Given the description of an element on the screen output the (x, y) to click on. 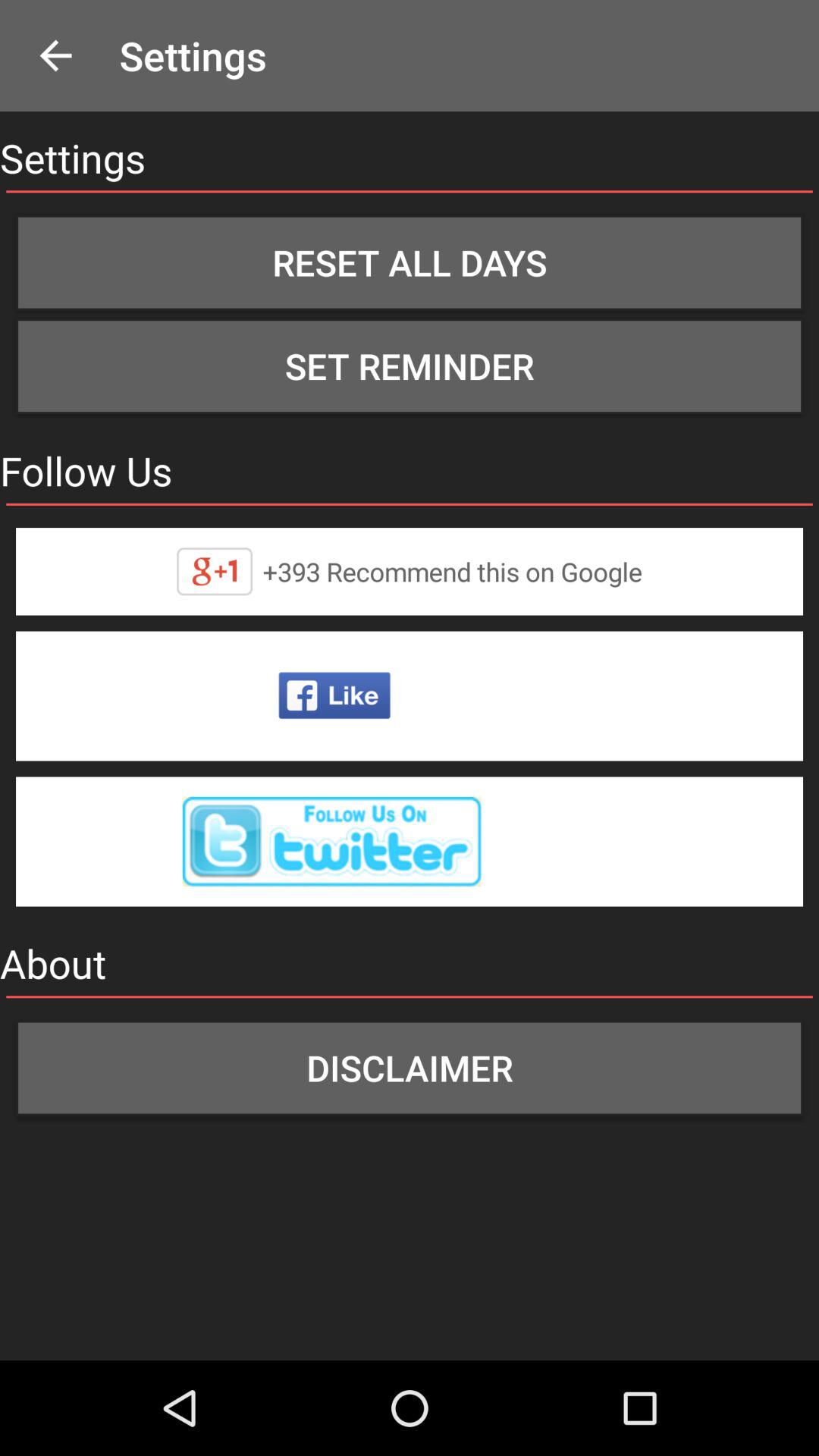
scroll until set reminder icon (409, 366)
